Given the description of an element on the screen output the (x, y) to click on. 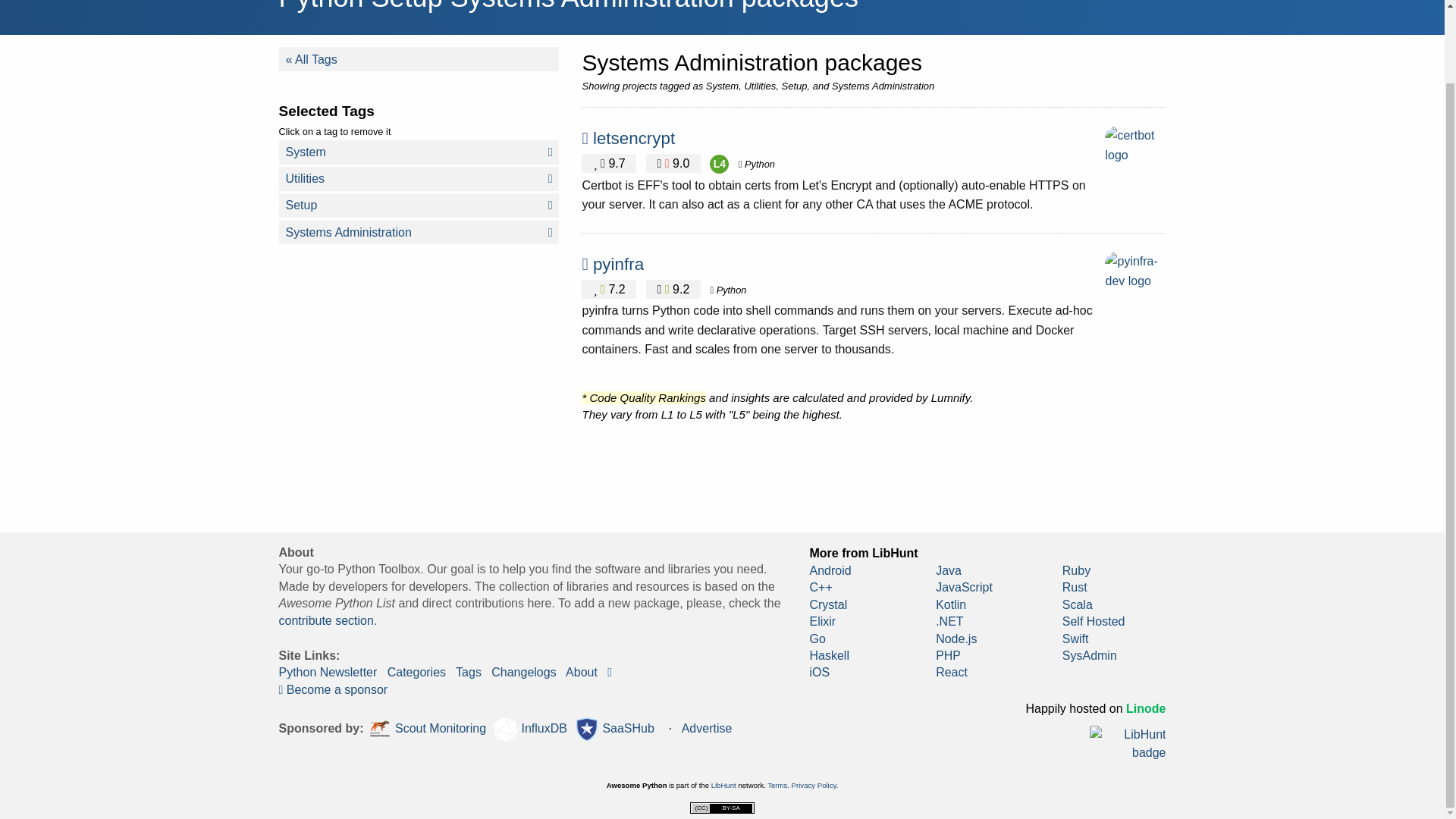
Categories (416, 671)
Code Quality Rank provided by Lumnify (719, 163)
Tags (468, 671)
Primary programming language (756, 163)
contribute section (326, 620)
Setup (418, 205)
InfluxDB (530, 729)
Utilities (418, 178)
pyinfra (617, 263)
Primary programming language (727, 289)
Advertise (706, 727)
SaaSHub (614, 729)
Android (829, 570)
Scout Monitoring (427, 729)
About (581, 671)
